Given the description of an element on the screen output the (x, y) to click on. 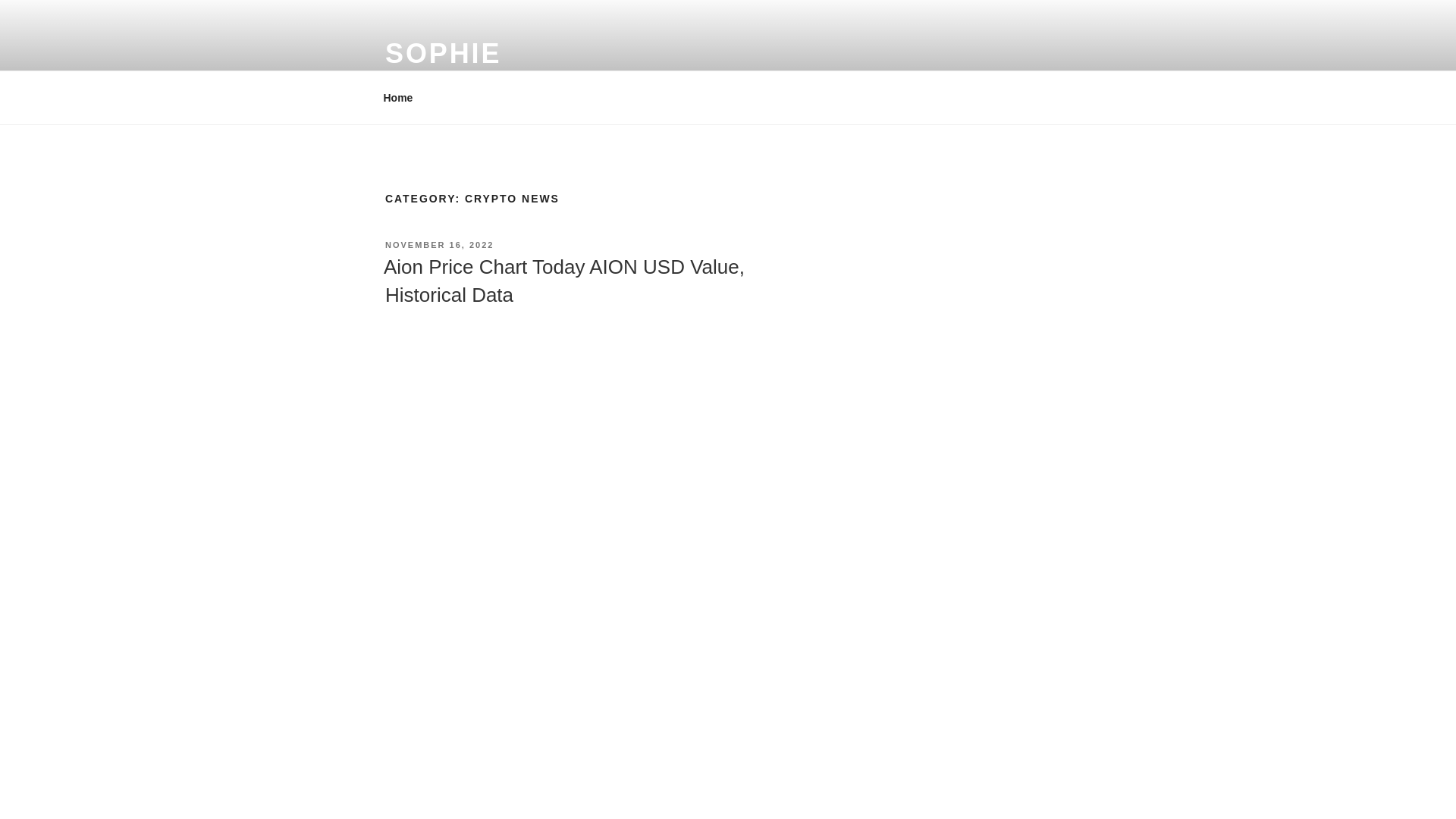
NOVEMBER 16, 2022 (439, 244)
Home (397, 97)
Aion Price Chart Today AION USD Value, Historical Data (564, 280)
SOPHIE (442, 52)
